Given the description of an element on the screen output the (x, y) to click on. 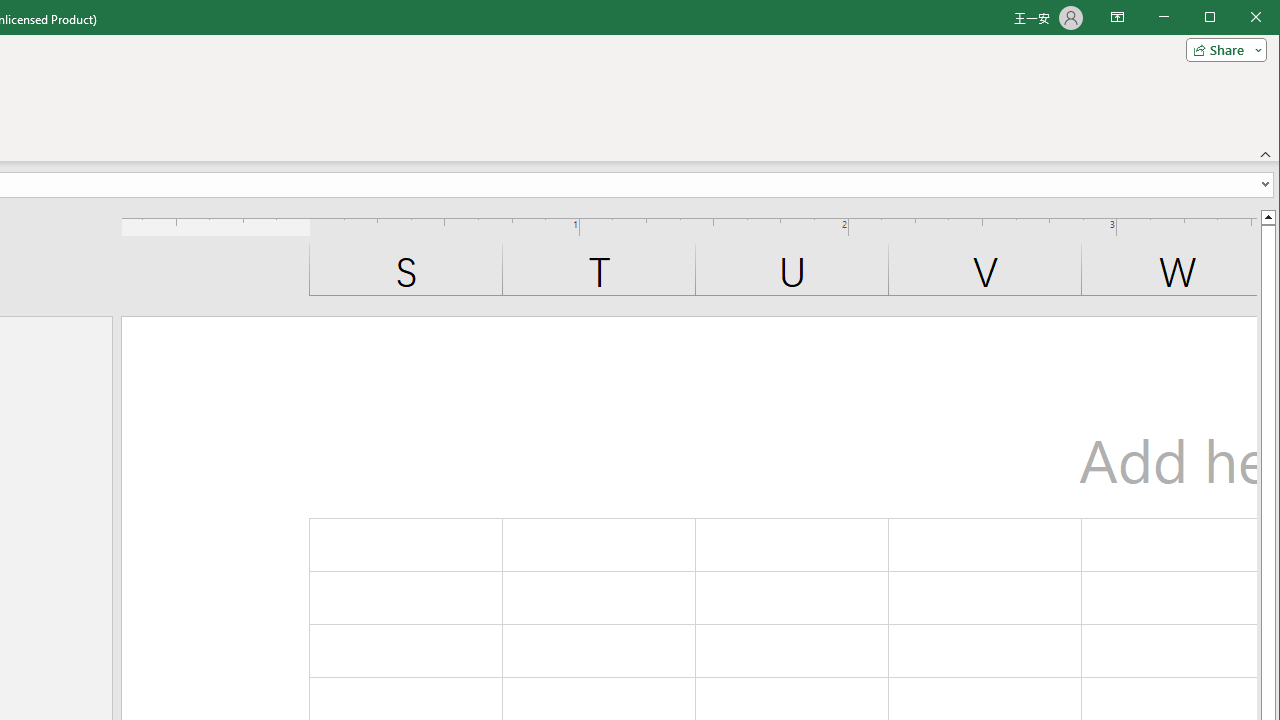
Maximize (1238, 18)
Line up (1268, 216)
Share (1222, 49)
Minimize (1216, 18)
Close (1261, 18)
Collapse the Ribbon (1266, 154)
Ribbon Display Options (1117, 17)
